Given the description of an element on the screen output the (x, y) to click on. 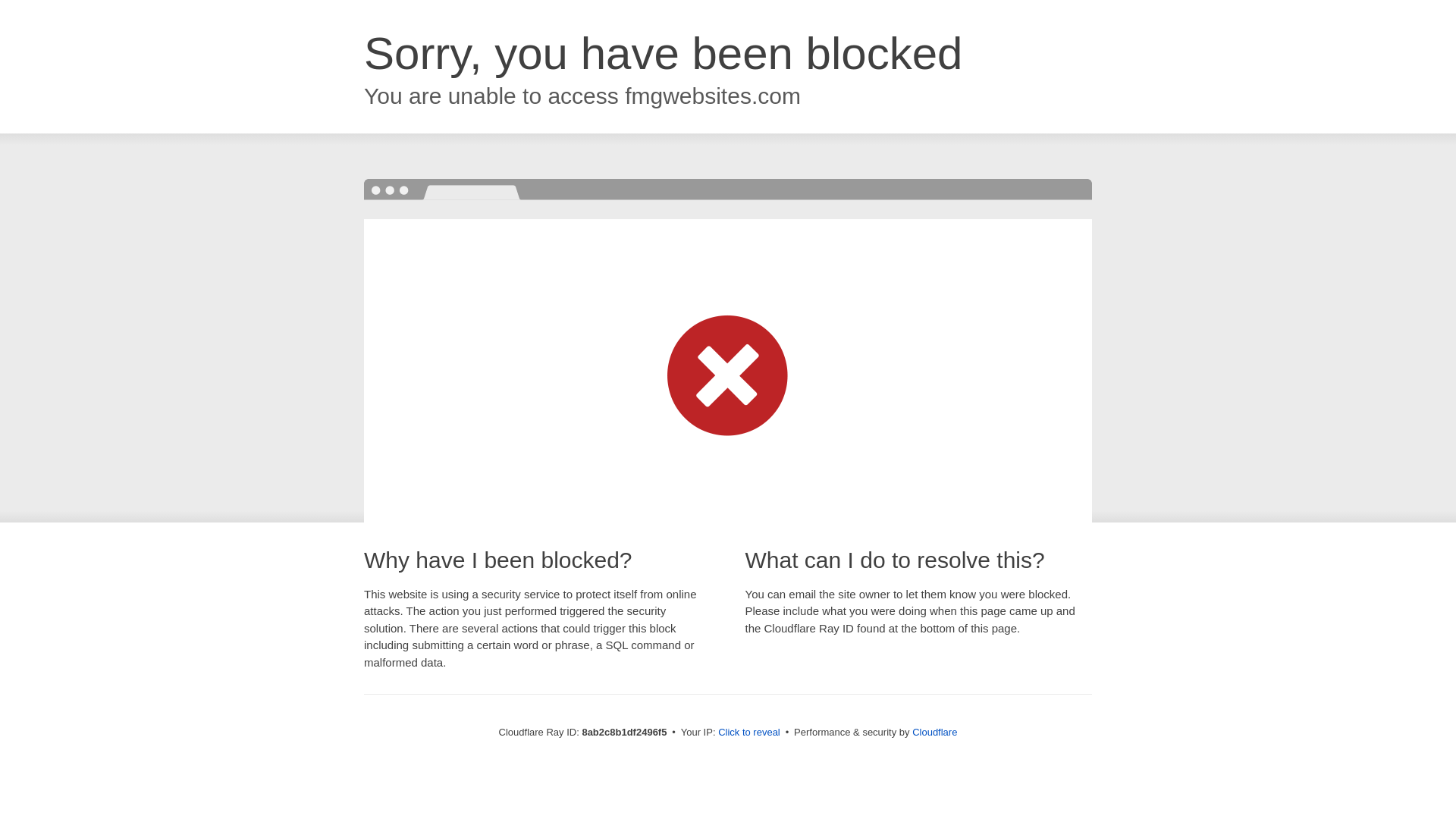
Cloudflare (934, 731)
Click to reveal (748, 732)
